Given the description of an element on the screen output the (x, y) to click on. 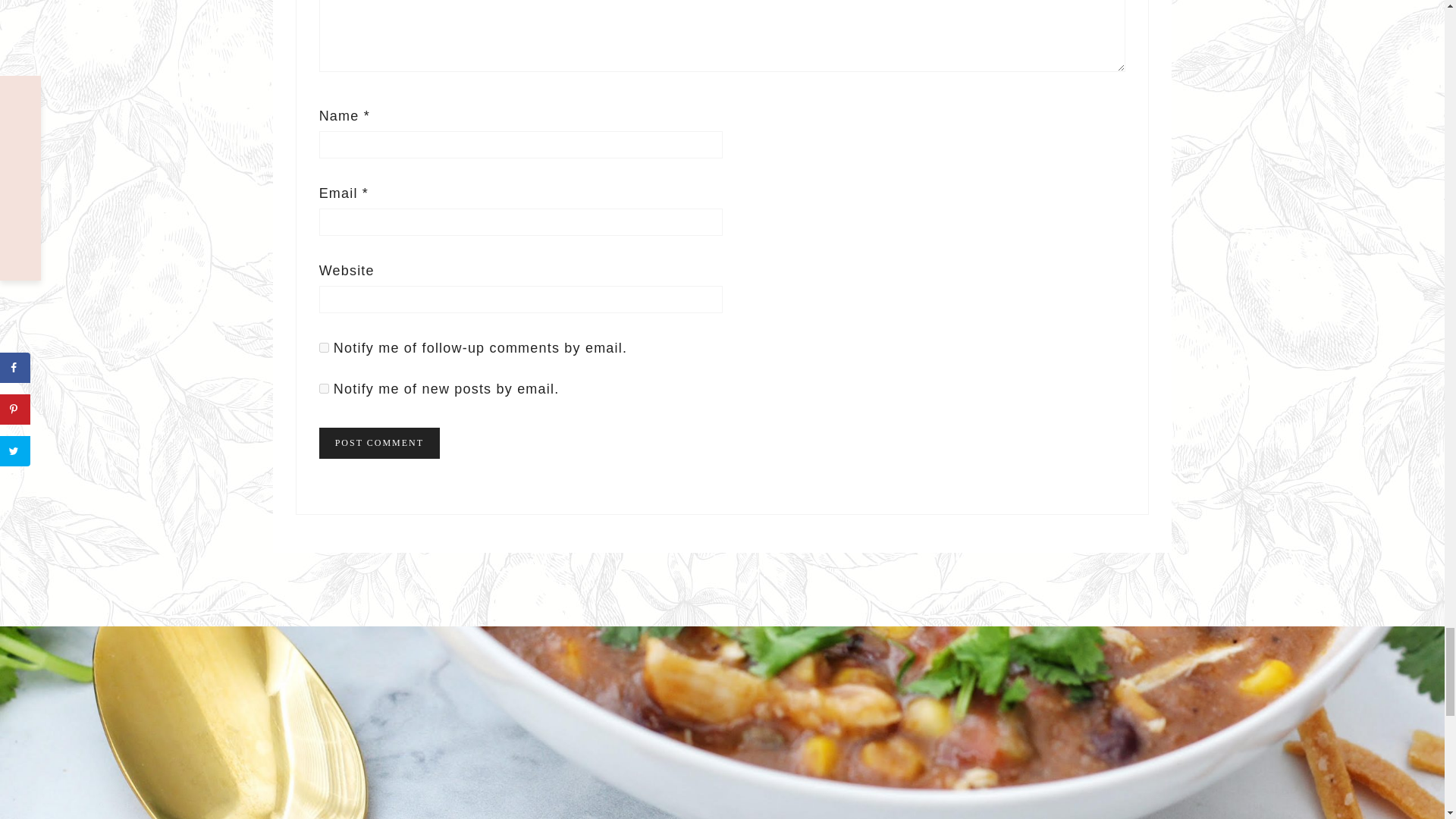
subscribe (323, 388)
subscribe (323, 347)
Post Comment (378, 442)
